Given the description of an element on the screen output the (x, y) to click on. 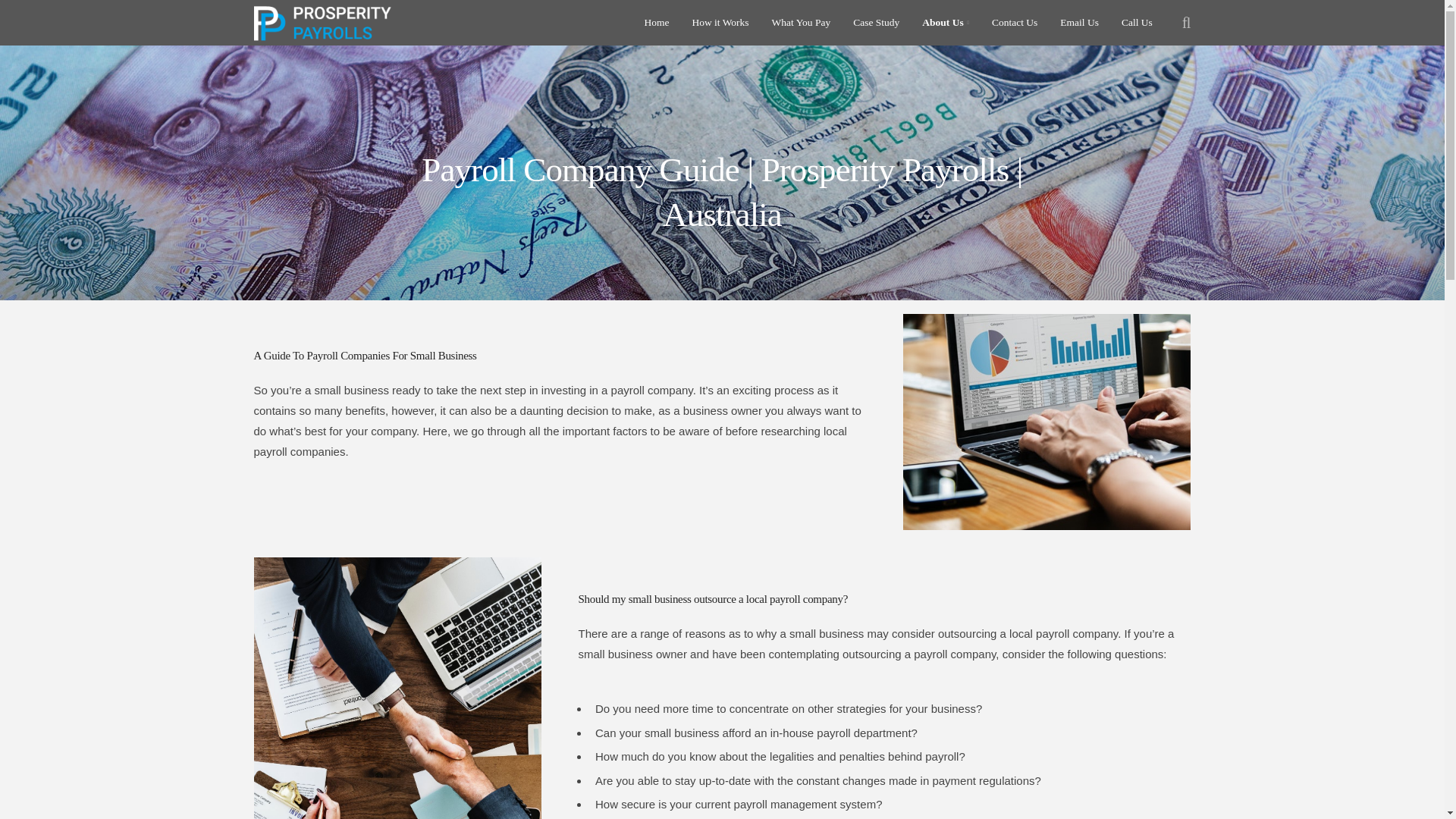
Case Study (876, 22)
How it Works (719, 22)
Contact Us (1013, 22)
What You Pay (801, 22)
About Us (945, 22)
